Given the description of an element on the screen output the (x, y) to click on. 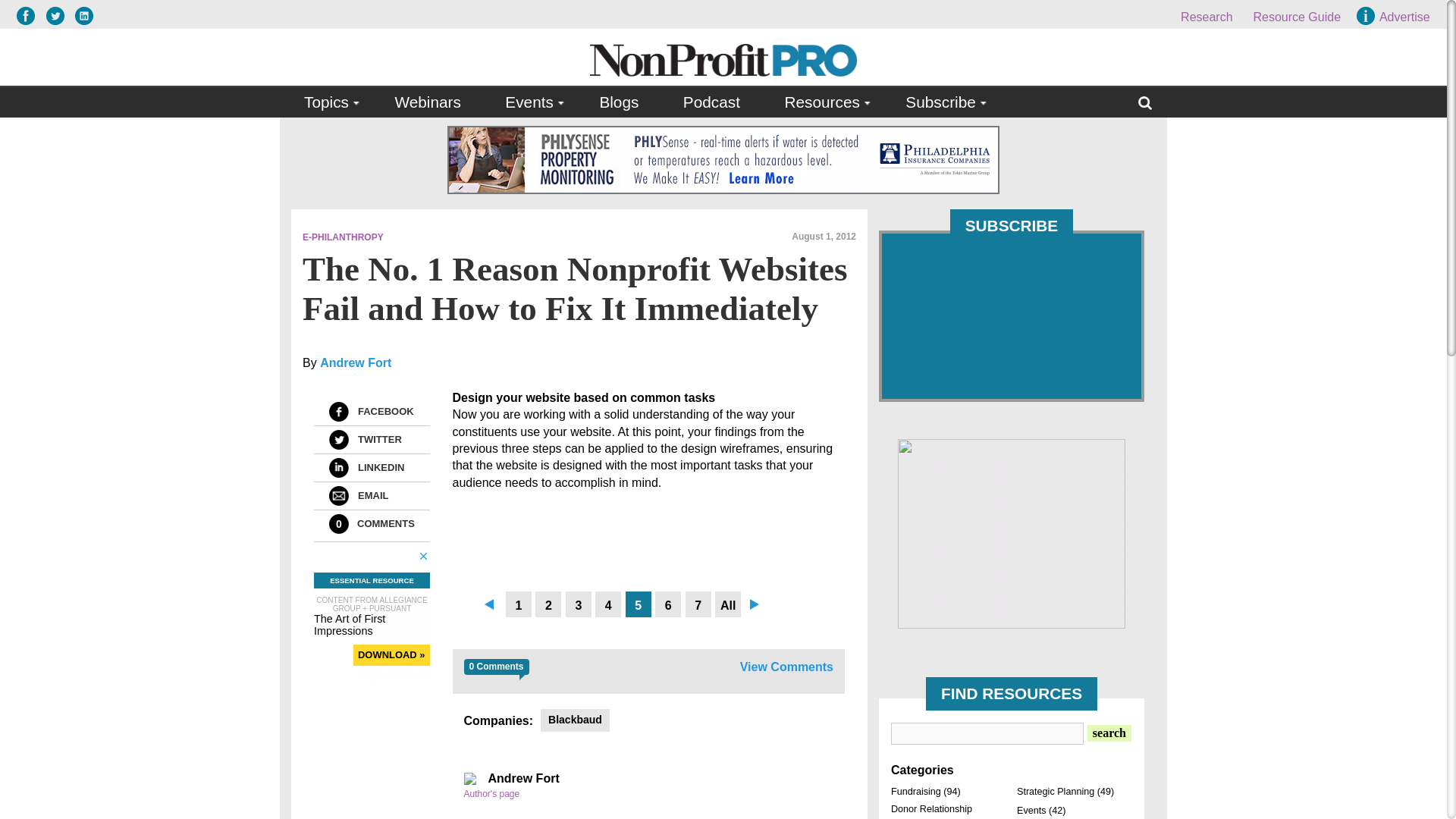
search (1109, 733)
Resource Guide (1296, 16)
Advertise (1395, 16)
Email Link (339, 496)
Twitter (339, 439)
Topics (327, 101)
Facebook (339, 411)
3rd party ad content (1011, 533)
Research (1205, 16)
Webinars (426, 101)
